Given the description of an element on the screen output the (x, y) to click on. 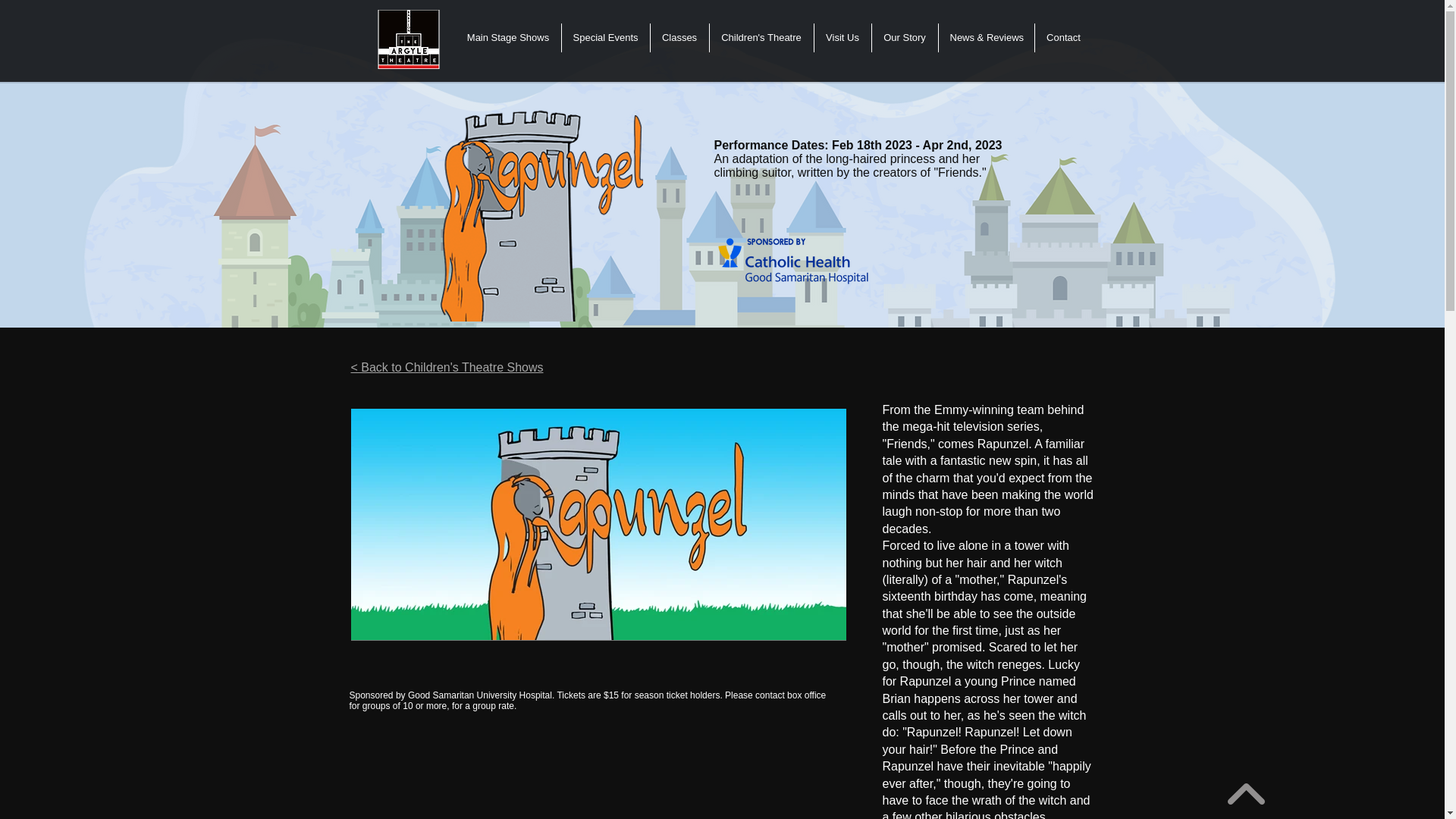
Contact (1062, 37)
Classes (679, 37)
Main Stage Shows (507, 37)
Visit Us (841, 37)
Children's Theatre (761, 37)
Special Events (604, 37)
Our Story (904, 37)
